Given the description of an element on the screen output the (x, y) to click on. 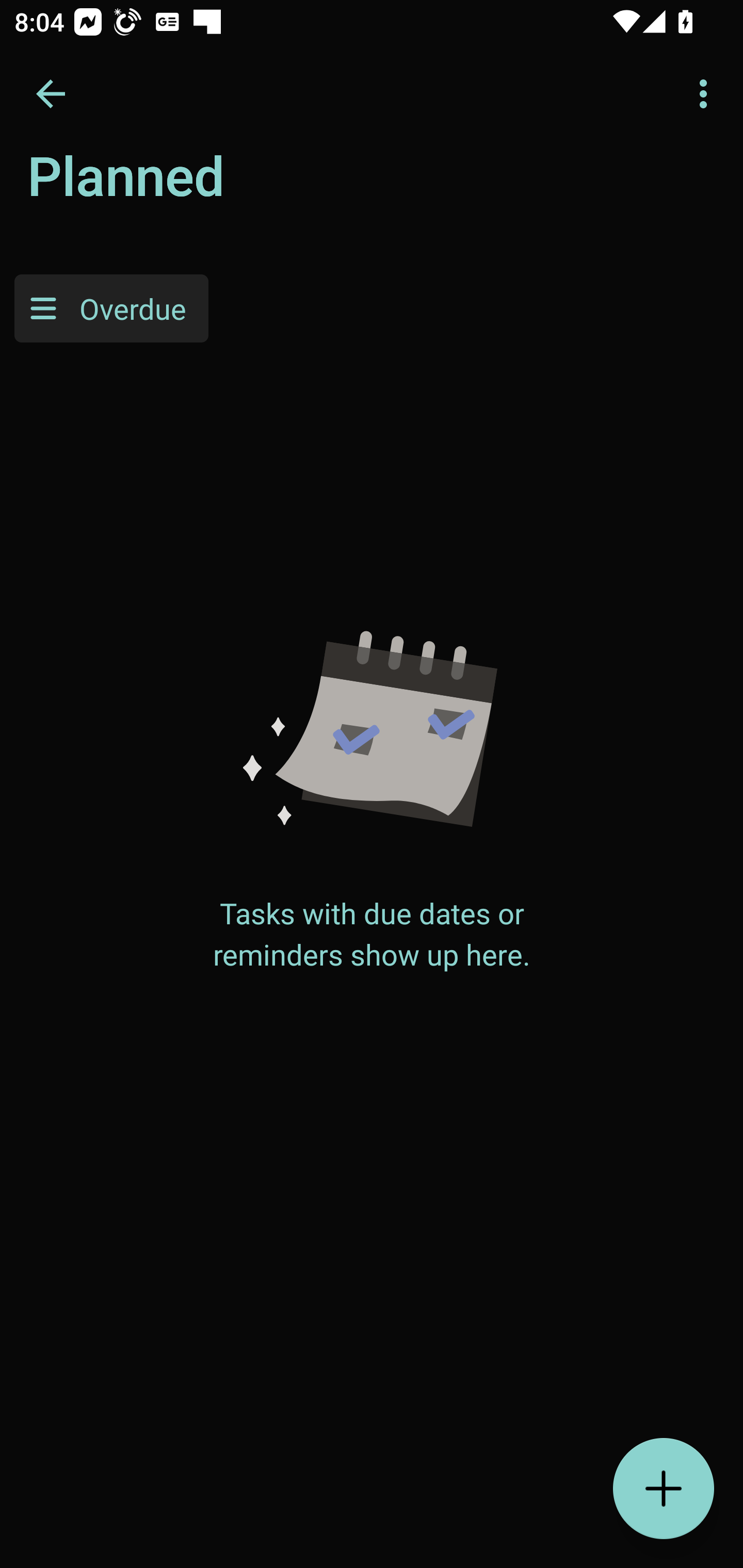
Back (50, 93)
More options (706, 93)
My Day, 0 tasks (182, 187)
Overdue view selected (111, 307)
Add a task (663, 1488)
